Given the description of an element on the screen output the (x, y) to click on. 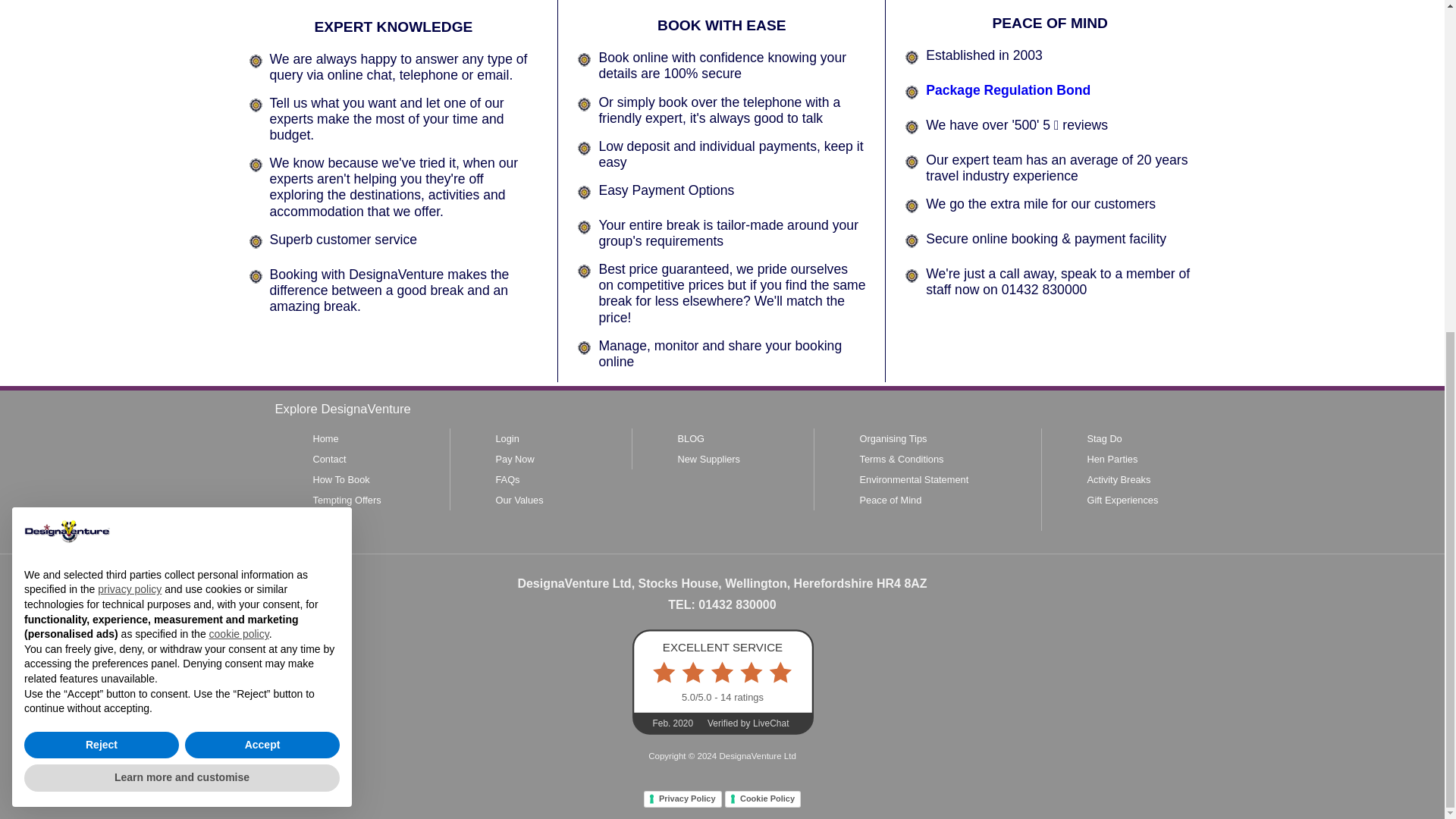
Privacy Policy  (682, 799)
Cookie Policy  (762, 799)
